Given the description of an element on the screen output the (x, y) to click on. 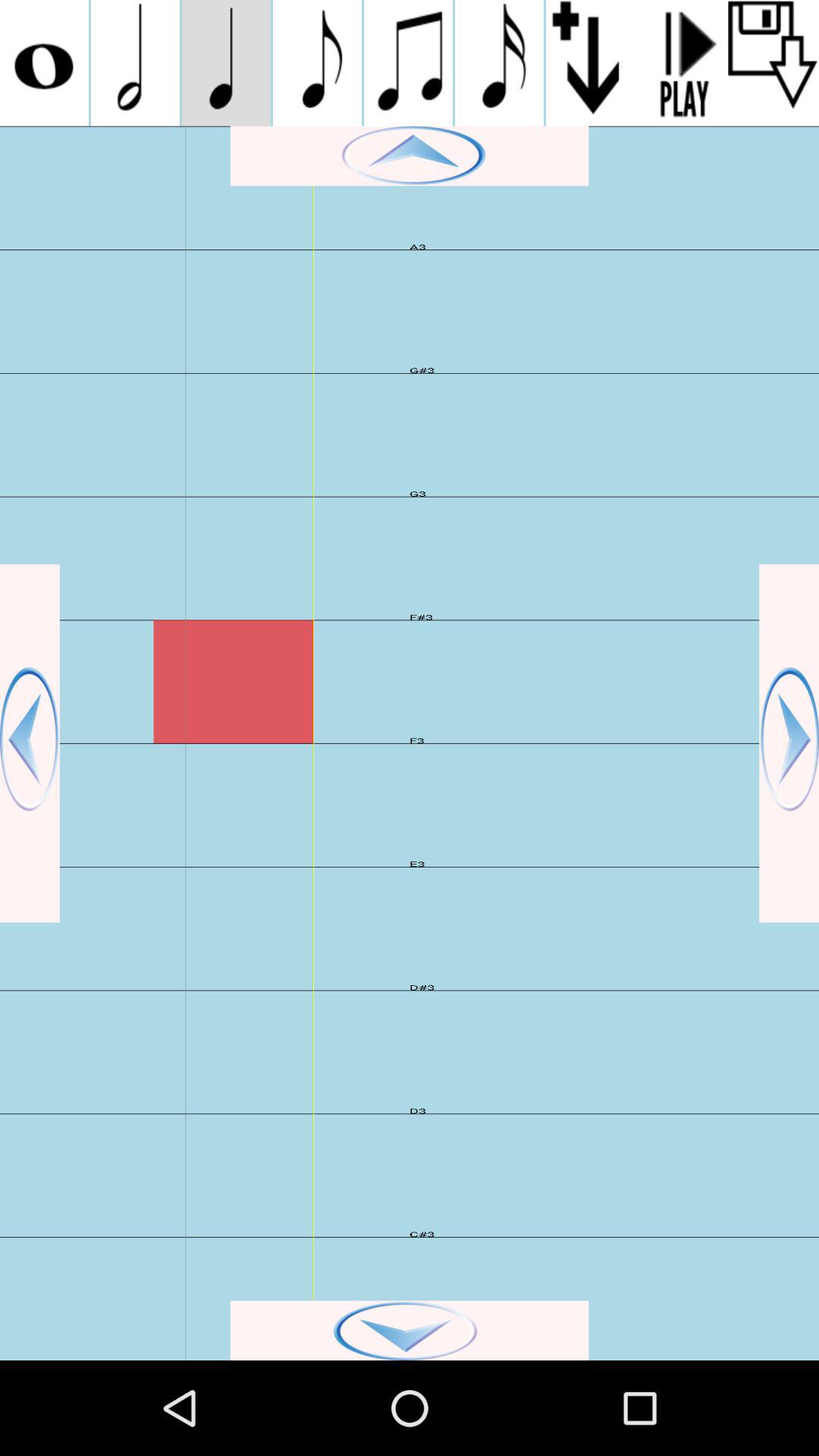
down (409, 1330)
